Given the description of an element on the screen output the (x, y) to click on. 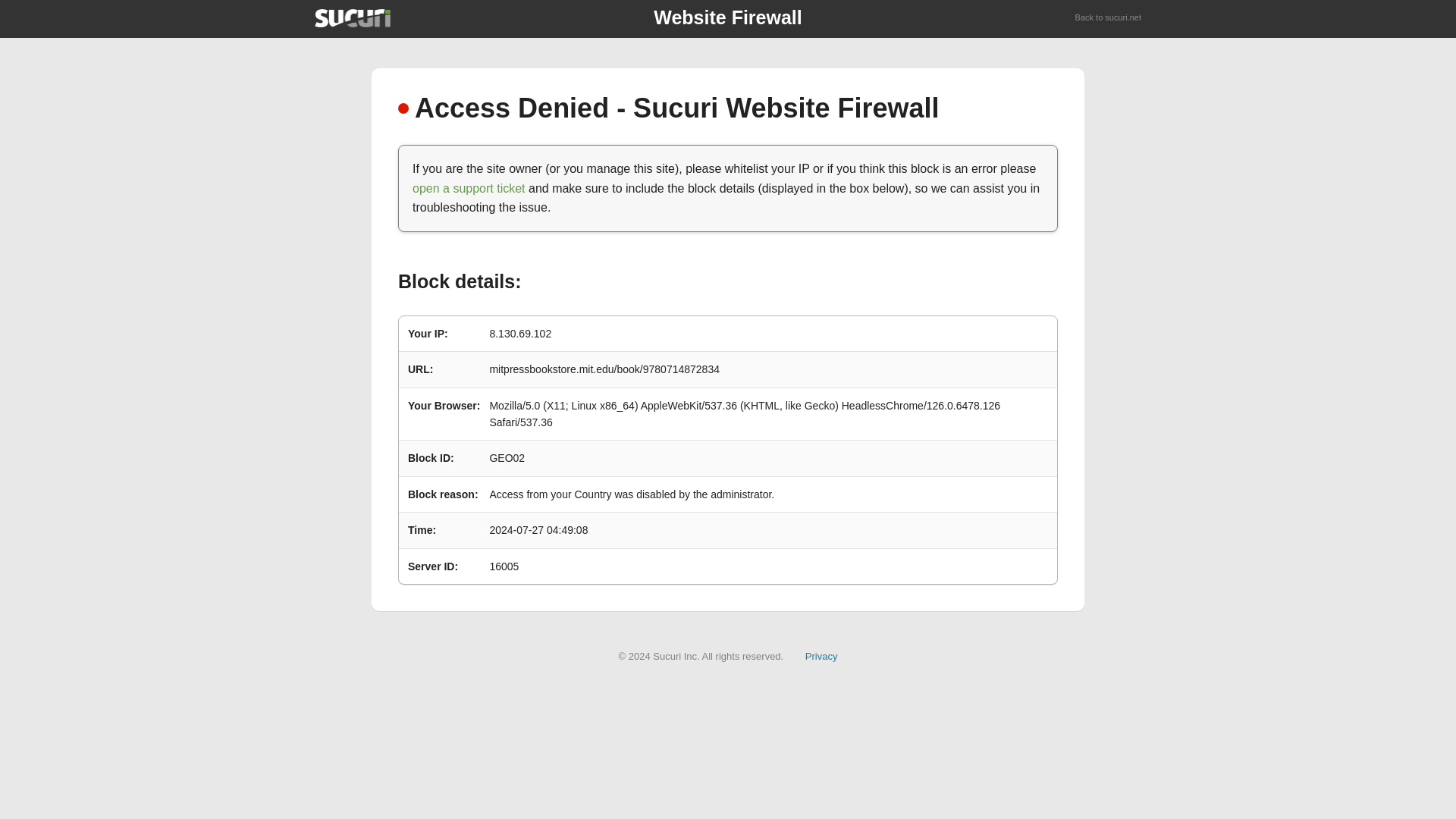
Back to sucuri.net (1108, 18)
open a support ticket (468, 187)
Privacy (821, 655)
